Given the description of an element on the screen output the (x, y) to click on. 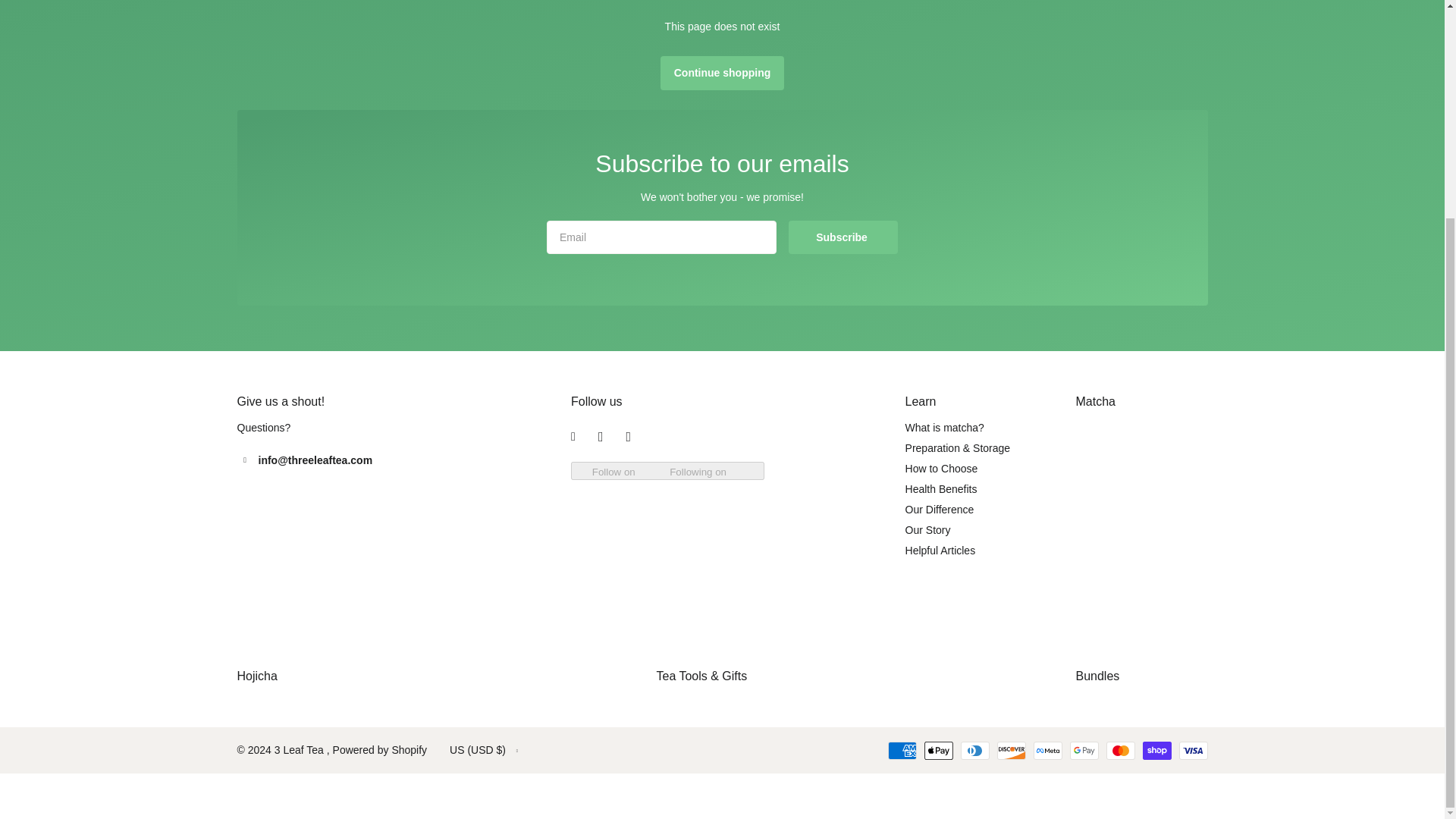
Meta Pay (1046, 751)
Our Difference (939, 509)
Mastercard (1119, 751)
Discover (1010, 751)
Helpful Articles (940, 550)
What is matcha? (944, 427)
How to Choose (941, 468)
Google Pay (1082, 751)
Our Story (927, 530)
American Express (900, 751)
